Given the description of an element on the screen output the (x, y) to click on. 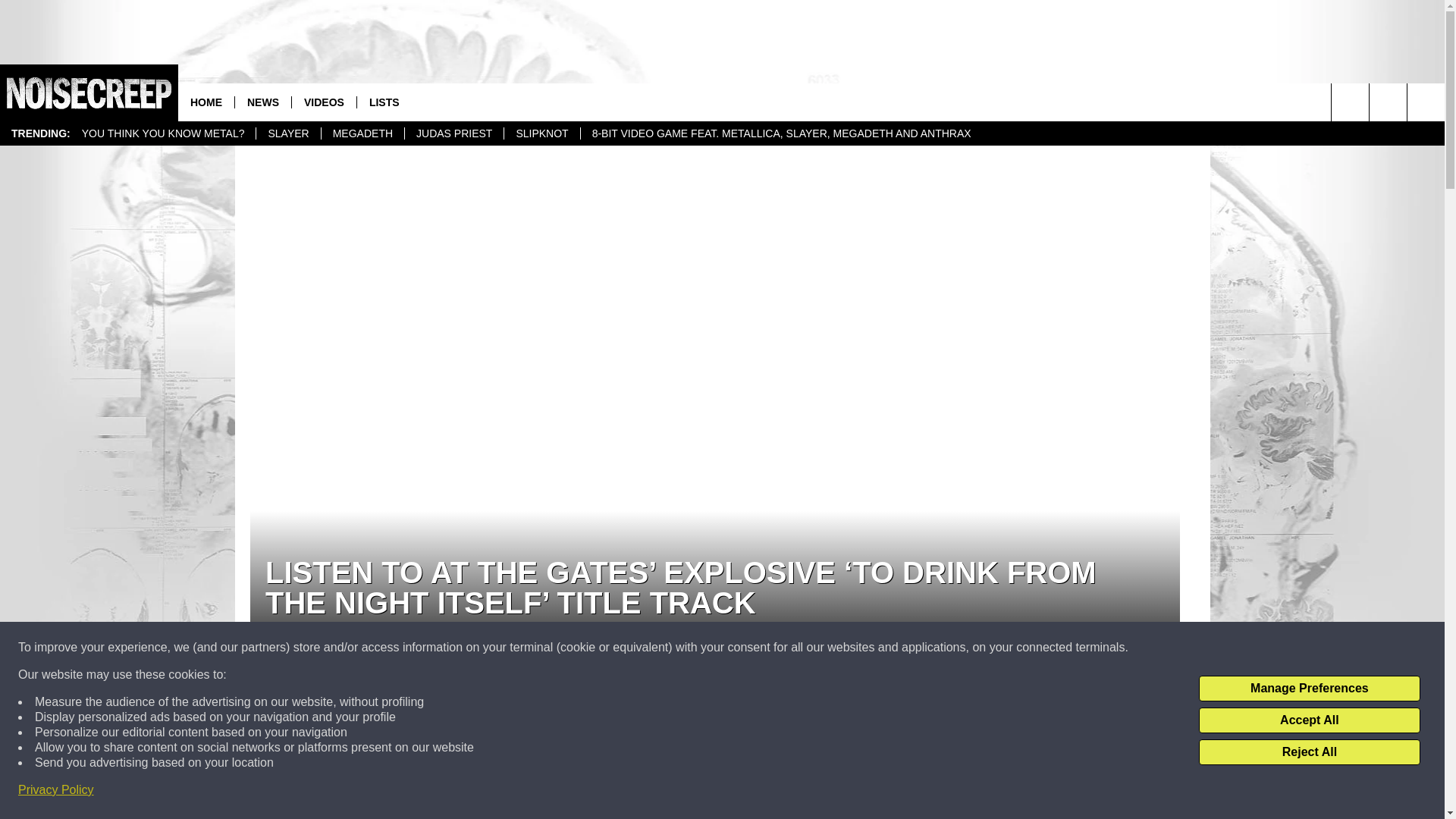
YOU THINK YOU KNOW METAL? (162, 133)
JUDAS PRIEST (453, 133)
Manage Preferences (1309, 688)
Share on Twitter (517, 724)
SHARE ON FACEBOOK (912, 724)
HOME (205, 102)
VIDEOS (323, 102)
SLIPKNOT (541, 133)
Reject All (1309, 751)
Privacy Policy (55, 789)
Accept All (1309, 720)
Share on Facebook (912, 724)
Joe DiVita (278, 639)
At the Gates (657, 778)
